Given the description of an element on the screen output the (x, y) to click on. 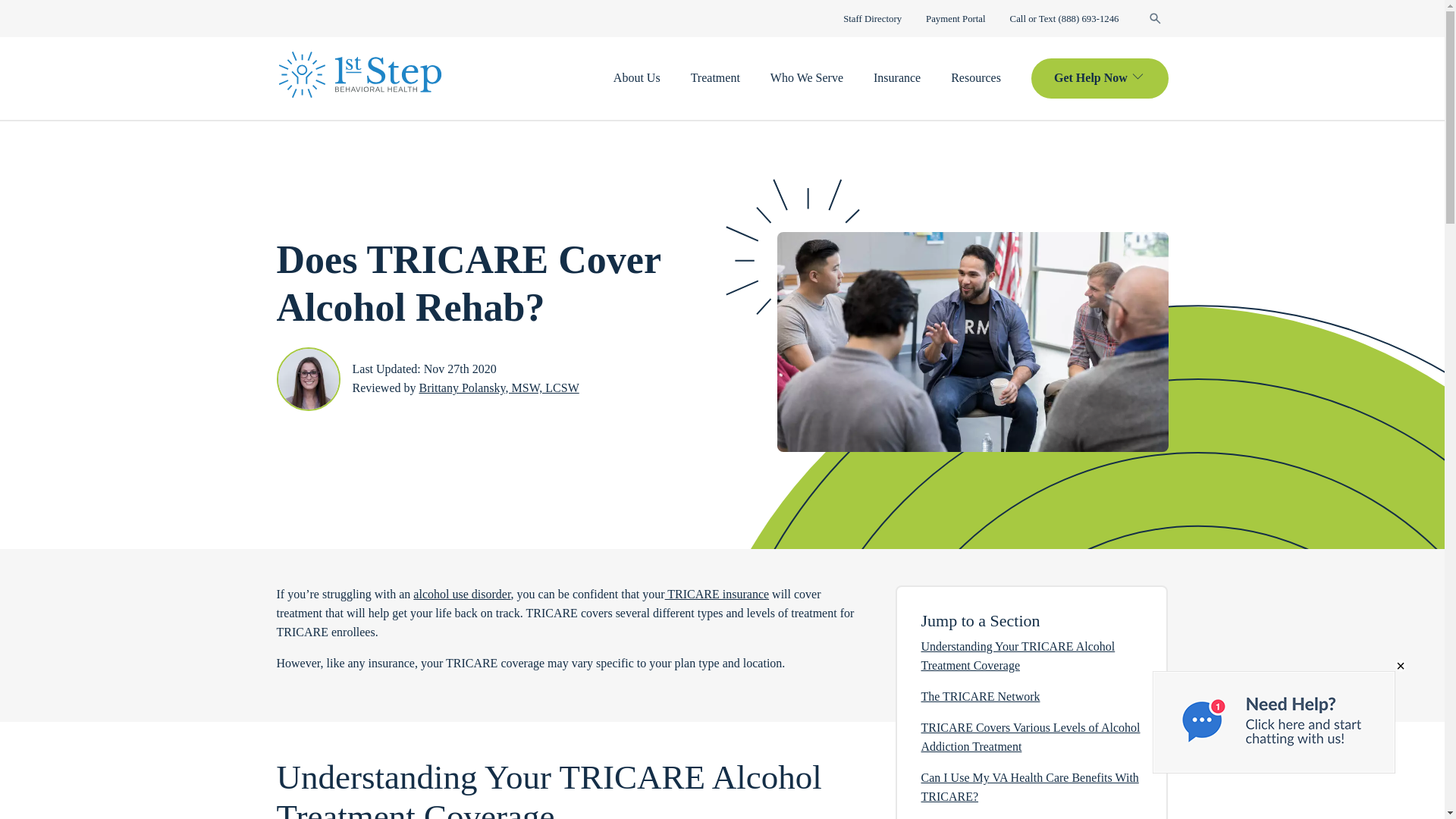
Staff Directory (872, 18)
About Us (636, 77)
Search (1154, 18)
Payment Portal (955, 18)
1st Step Behavioral Health (359, 74)
Treatment (714, 77)
